Given the description of an element on the screen output the (x, y) to click on. 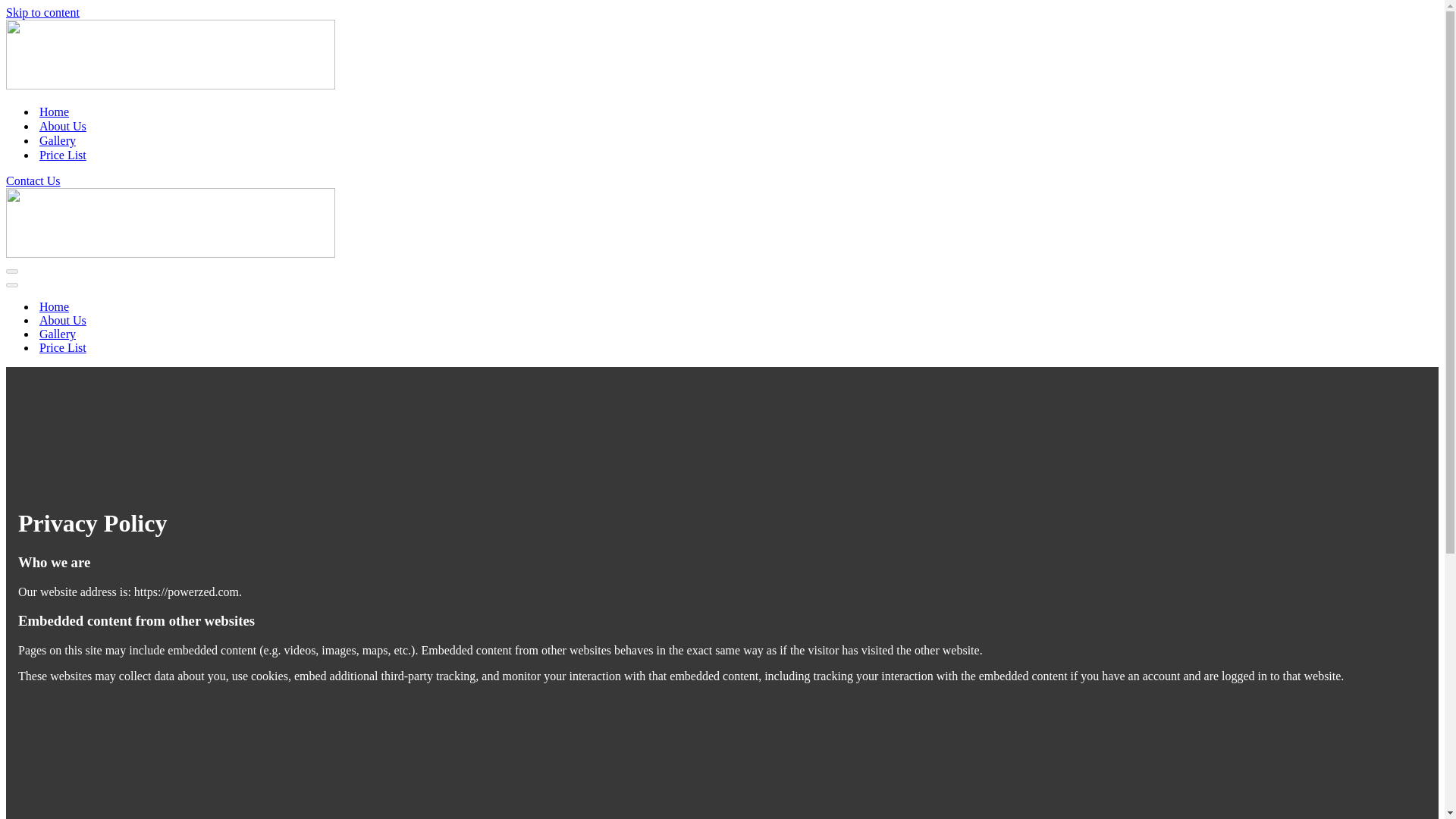
About Us (62, 320)
About Us (62, 125)
Contact Us (33, 180)
Gallery (57, 140)
Price List (62, 347)
Skip to content (42, 11)
Navigation Menu (11, 284)
Gallery (57, 334)
Home (53, 306)
Price List (62, 155)
